Given the description of an element on the screen output the (x, y) to click on. 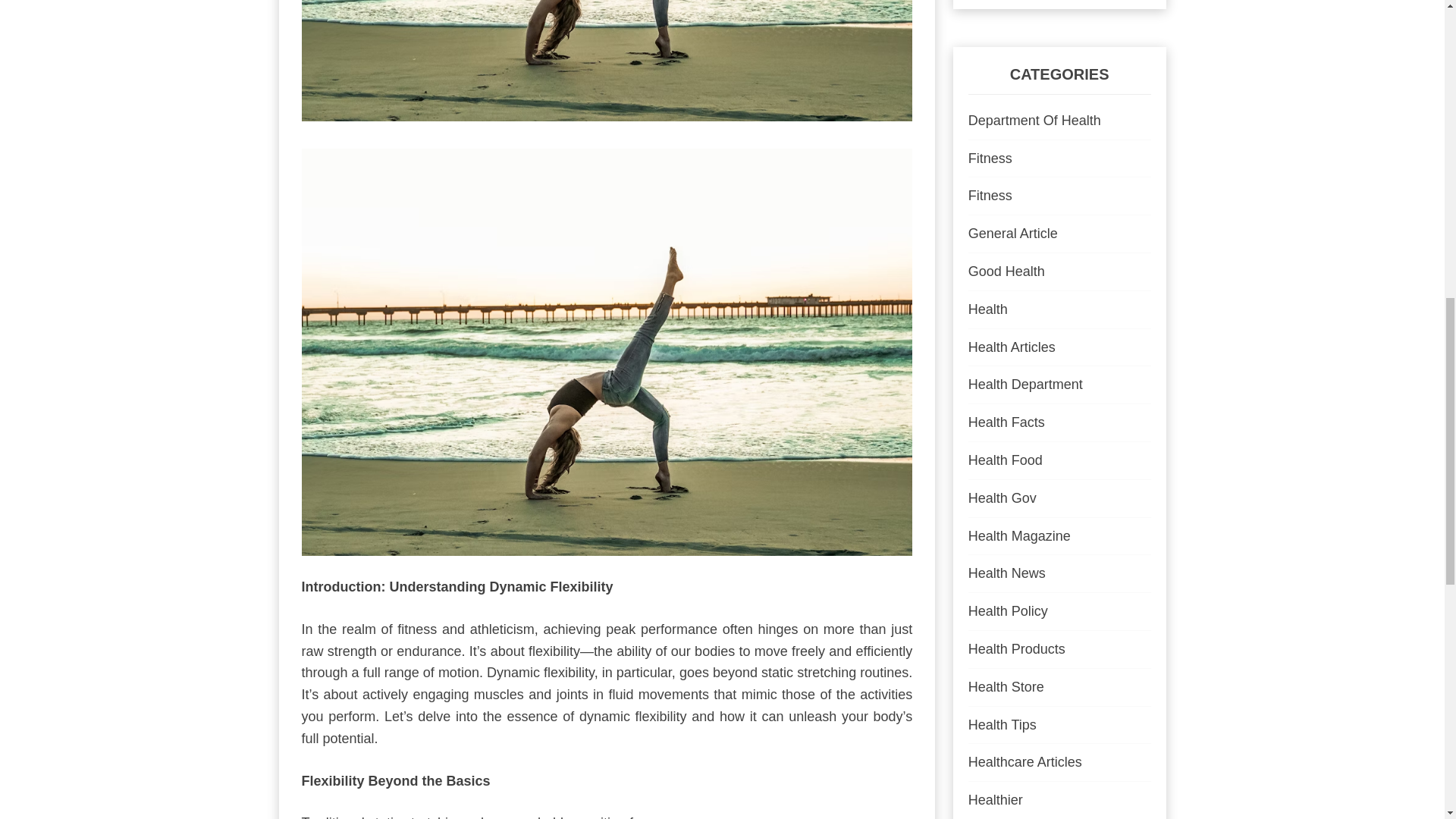
Fitness (989, 158)
Department Of Health (1034, 120)
